Given the description of an element on the screen output the (x, y) to click on. 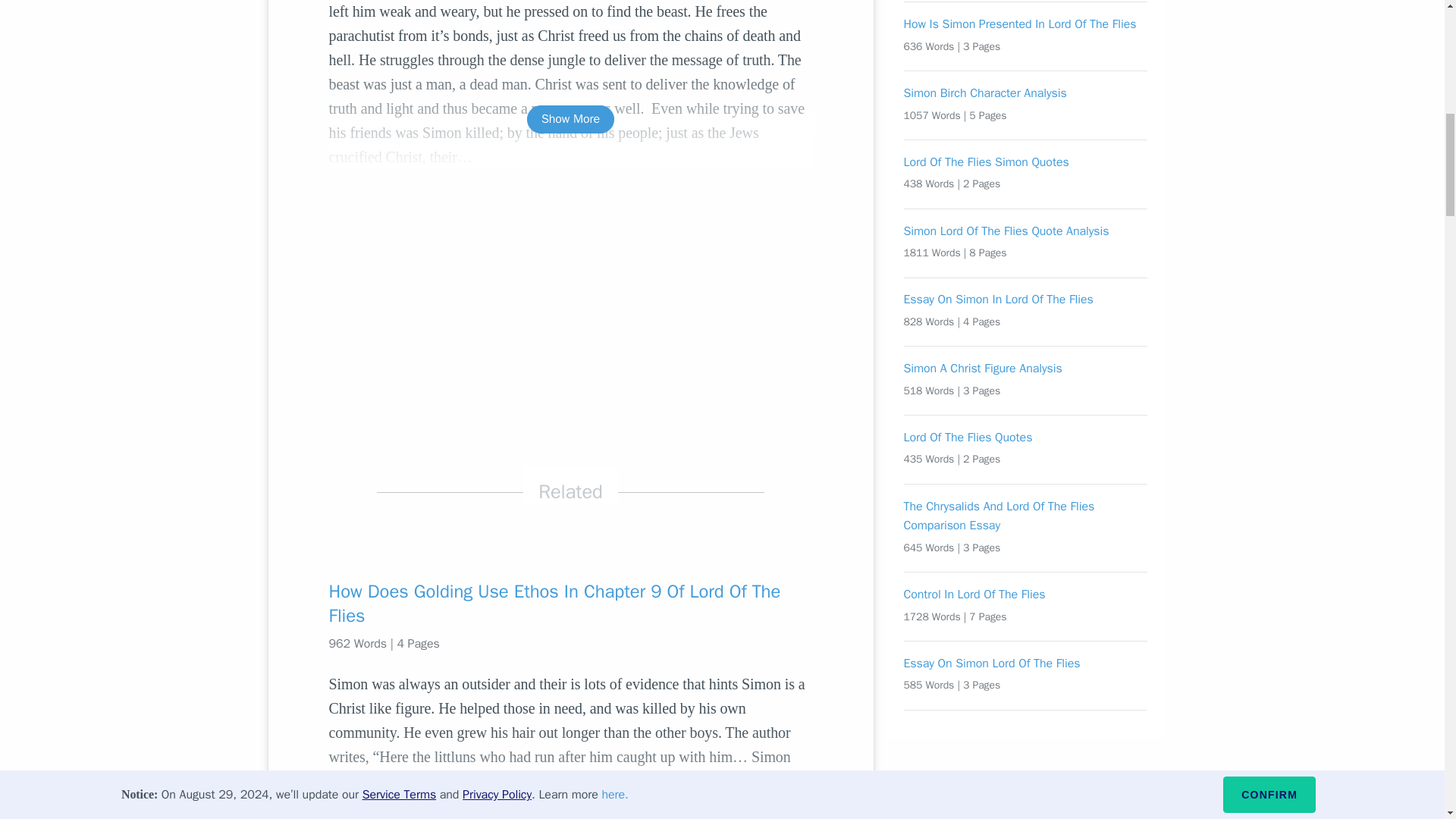
Read More (569, 791)
How Does Golding Use Ethos In Chapter 9 Of Lord Of The Flies (570, 603)
Show More (570, 119)
